Given the description of an element on the screen output the (x, y) to click on. 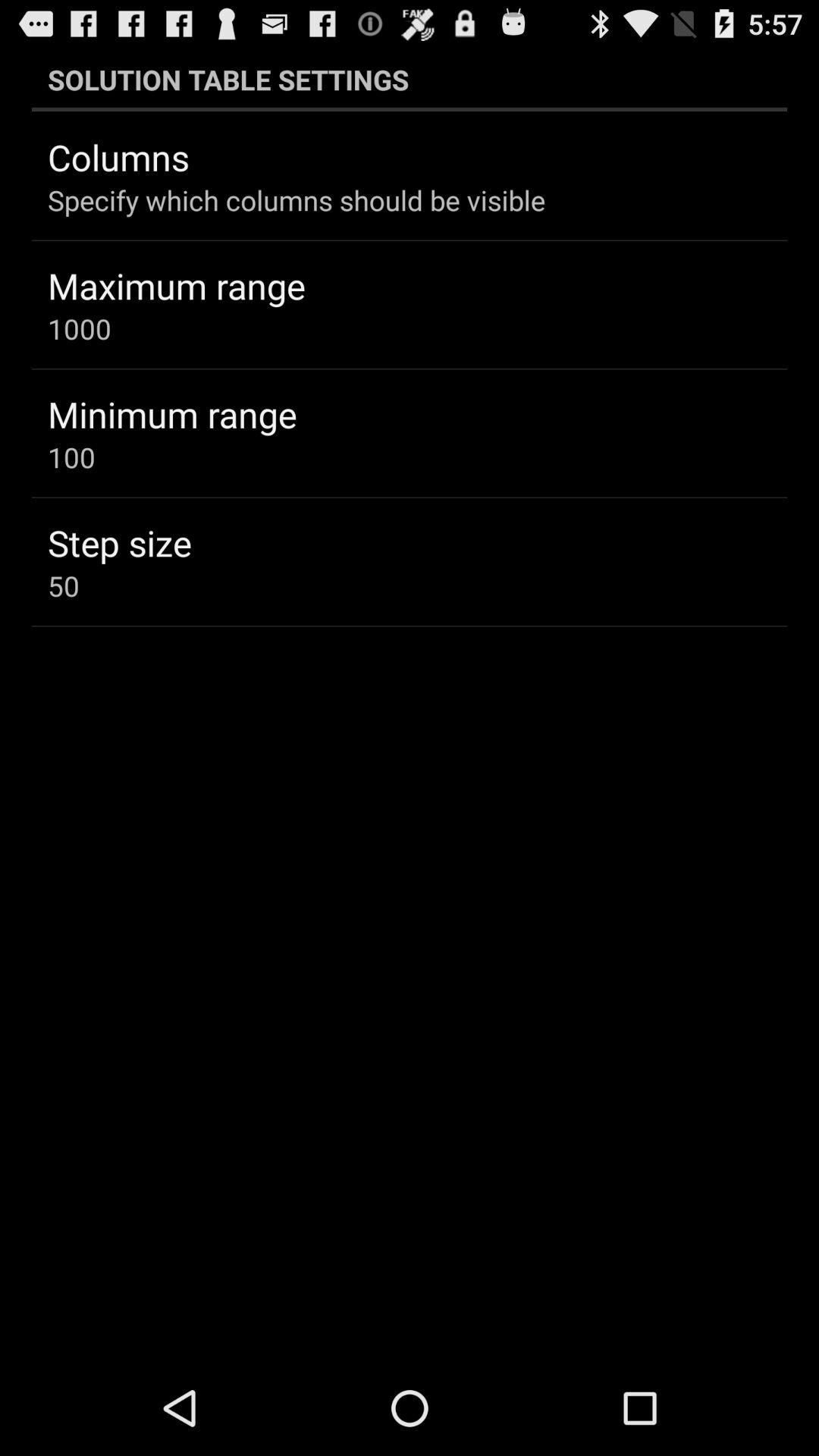
turn off icon below minimum range (71, 457)
